Given the description of an element on the screen output the (x, y) to click on. 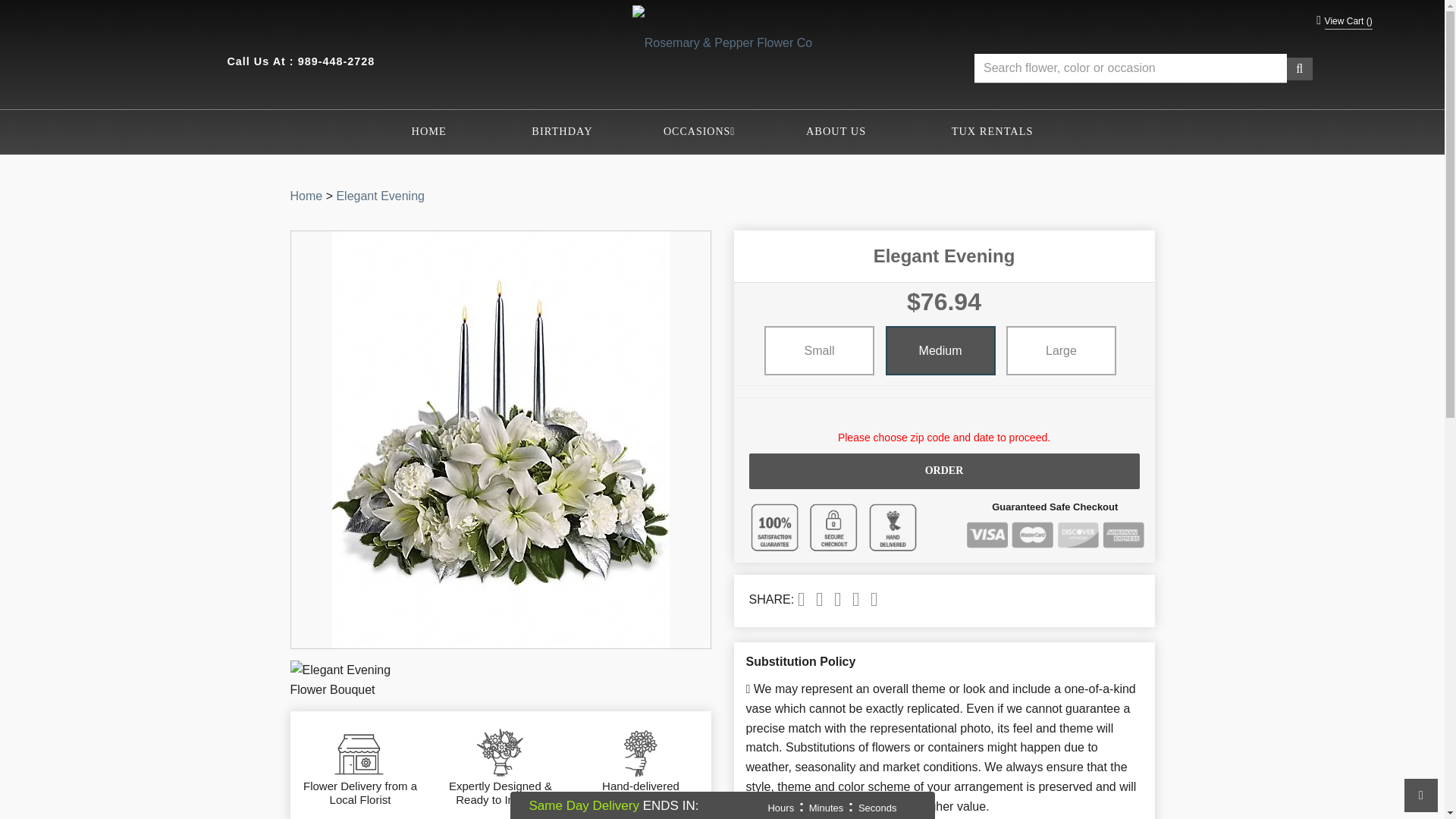
Home (305, 195)
ABOUT US (835, 130)
Home (305, 195)
Elegant Evening (380, 195)
OCCASIONS (699, 132)
Elegant (380, 195)
989-448-2728 (336, 61)
BIRTHDAY (561, 130)
HOME (428, 130)
TUX RENTALS (991, 130)
